Given the description of an element on the screen output the (x, y) to click on. 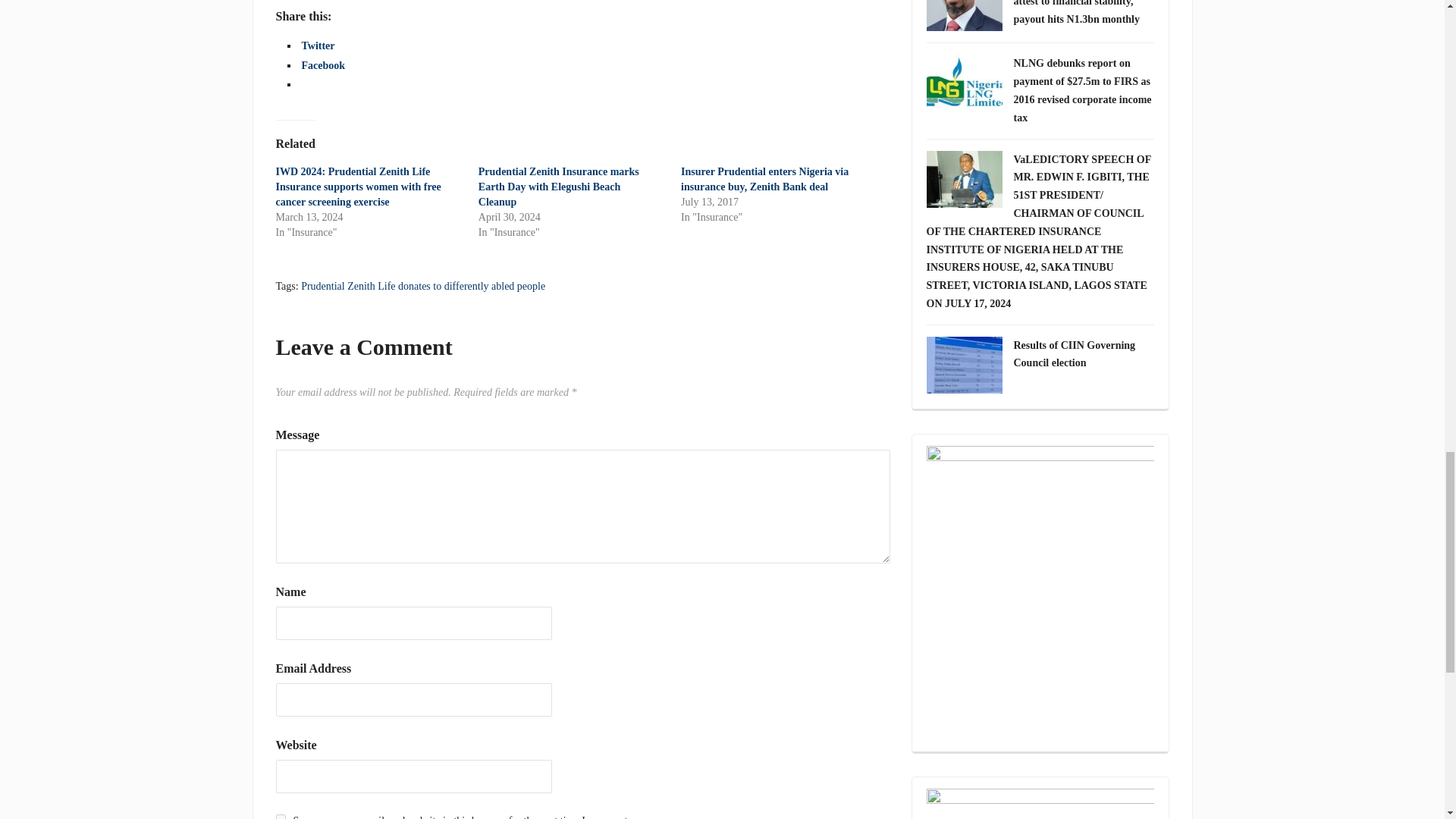
Click to share on Twitter (317, 45)
Prudential Zenith Life donates to differently abled people (422, 285)
yes (280, 816)
Click to share on Facebook (323, 65)
Facebook (323, 65)
Twitter (317, 45)
